Given the description of an element on the screen output the (x, y) to click on. 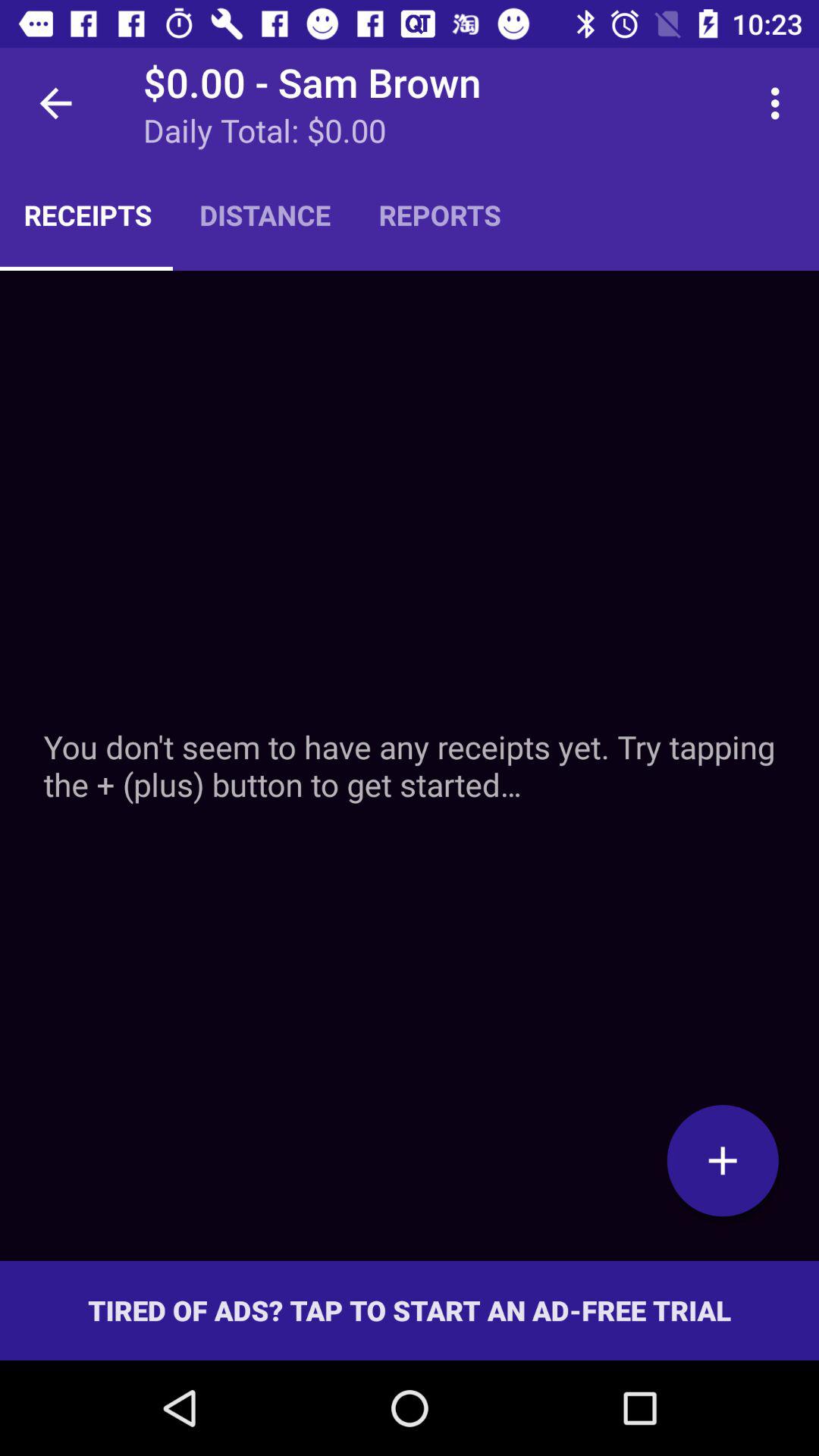
press item below daily total 0 icon (439, 214)
